Given the description of an element on the screen output the (x, y) to click on. 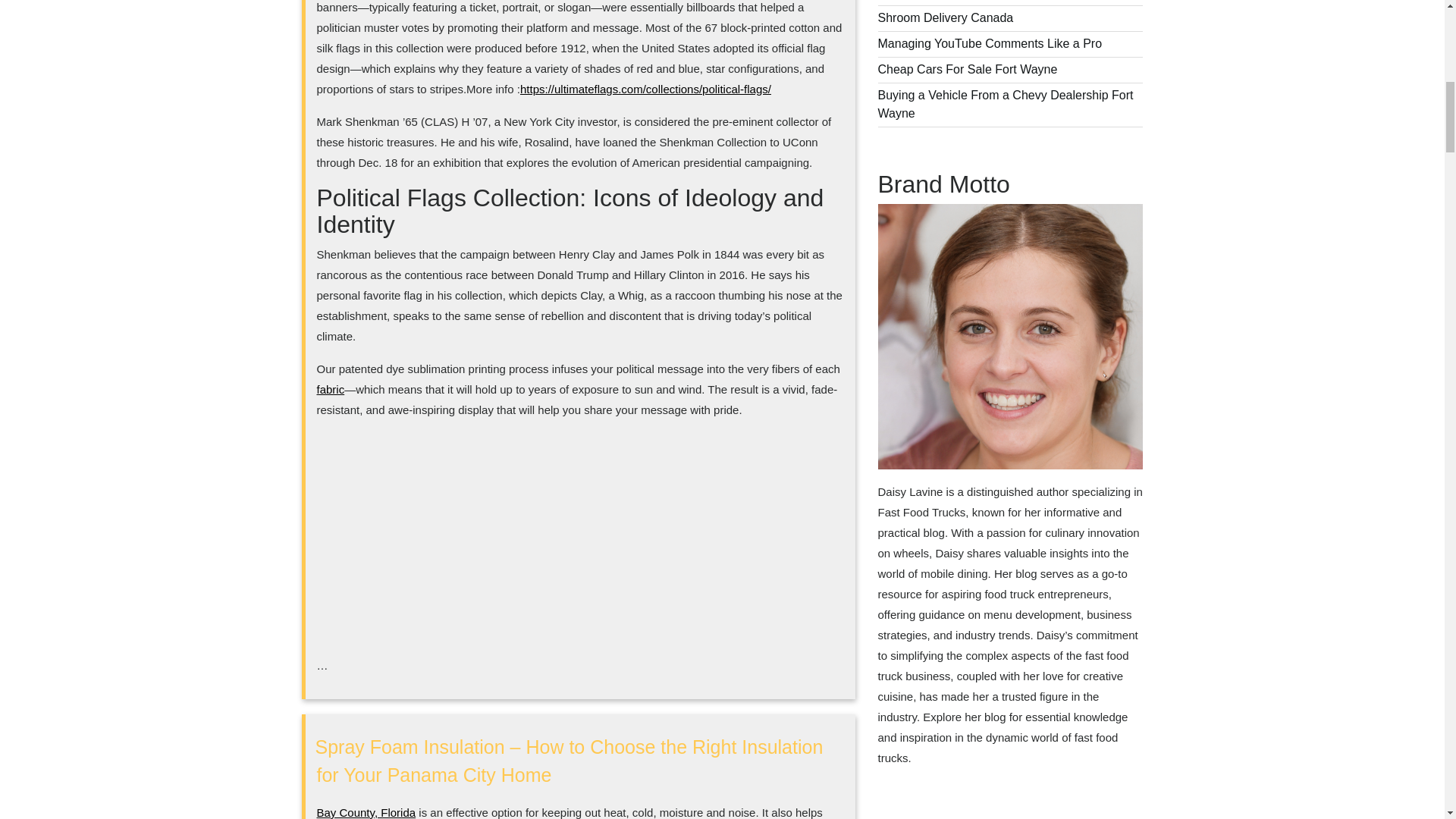
fabric (331, 389)
Bay County, Florida (366, 812)
